Given the description of an element on the screen output the (x, y) to click on. 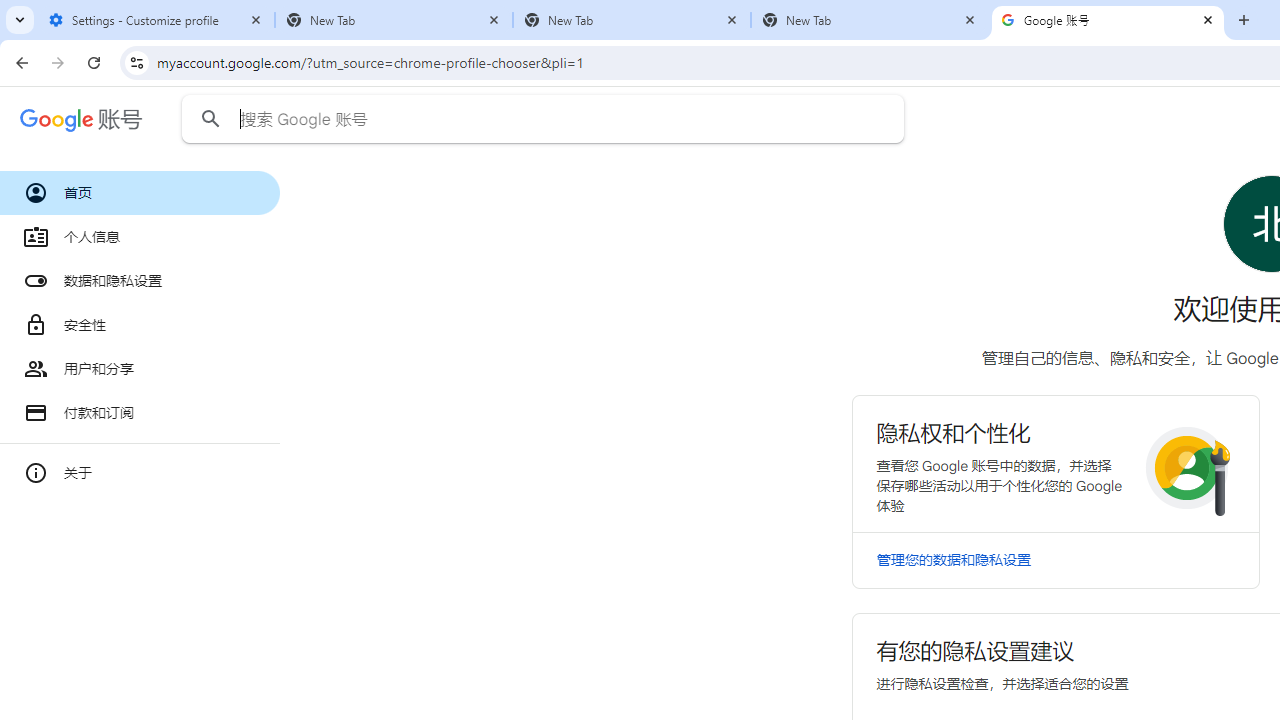
New Tab (632, 20)
New Tab (394, 20)
New Tab (870, 20)
